Given the description of an element on the screen output the (x, y) to click on. 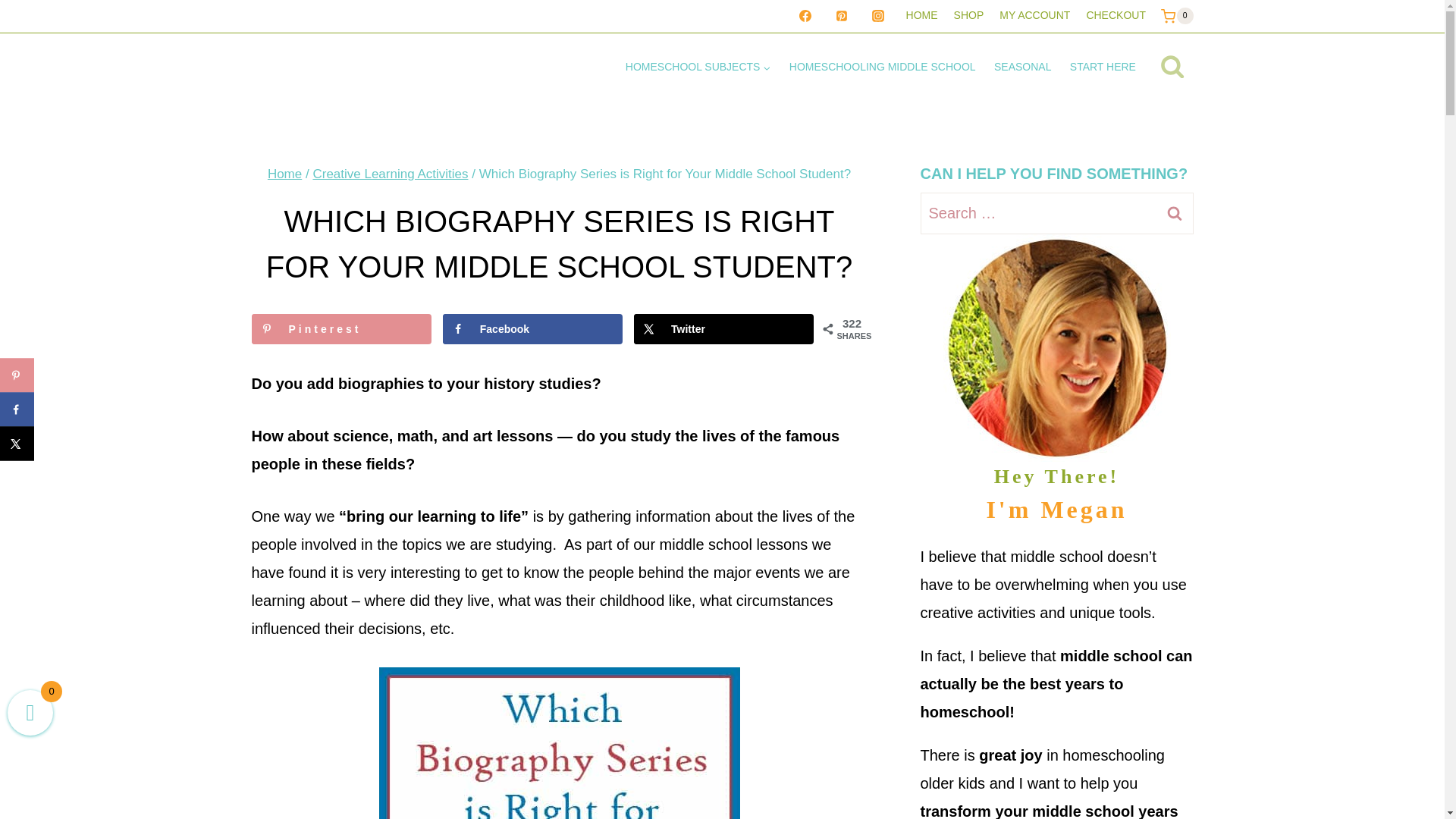
Search (1174, 213)
0 (1176, 15)
SHOP (967, 16)
MY ACCOUNT (1034, 16)
HOME (921, 16)
Facebook (532, 328)
HOMESCHOOL SUBJECTS (697, 66)
CHECKOUT (1116, 16)
Search (1174, 213)
START HERE (1102, 66)
